Given the description of an element on the screen output the (x, y) to click on. 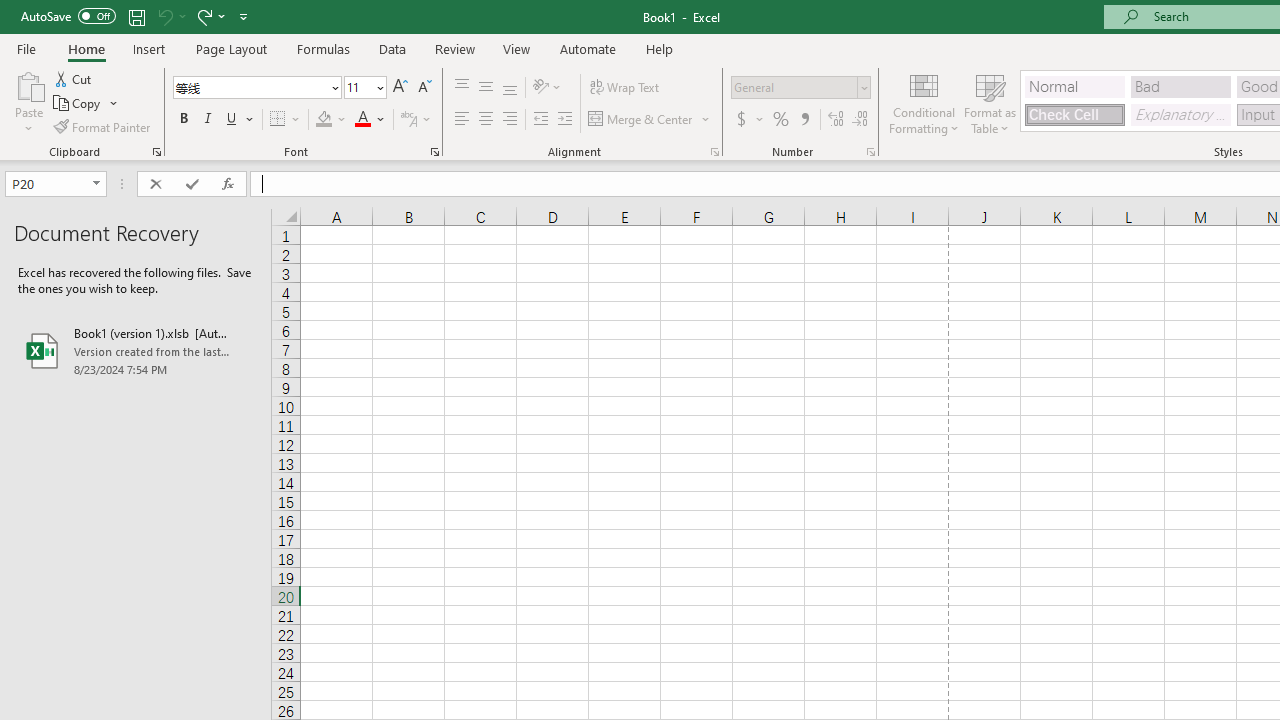
Increase Font Size (399, 87)
Number Format (794, 87)
Show Phonetic Field (408, 119)
Percent Style (781, 119)
